Given the description of an element on the screen output the (x, y) to click on. 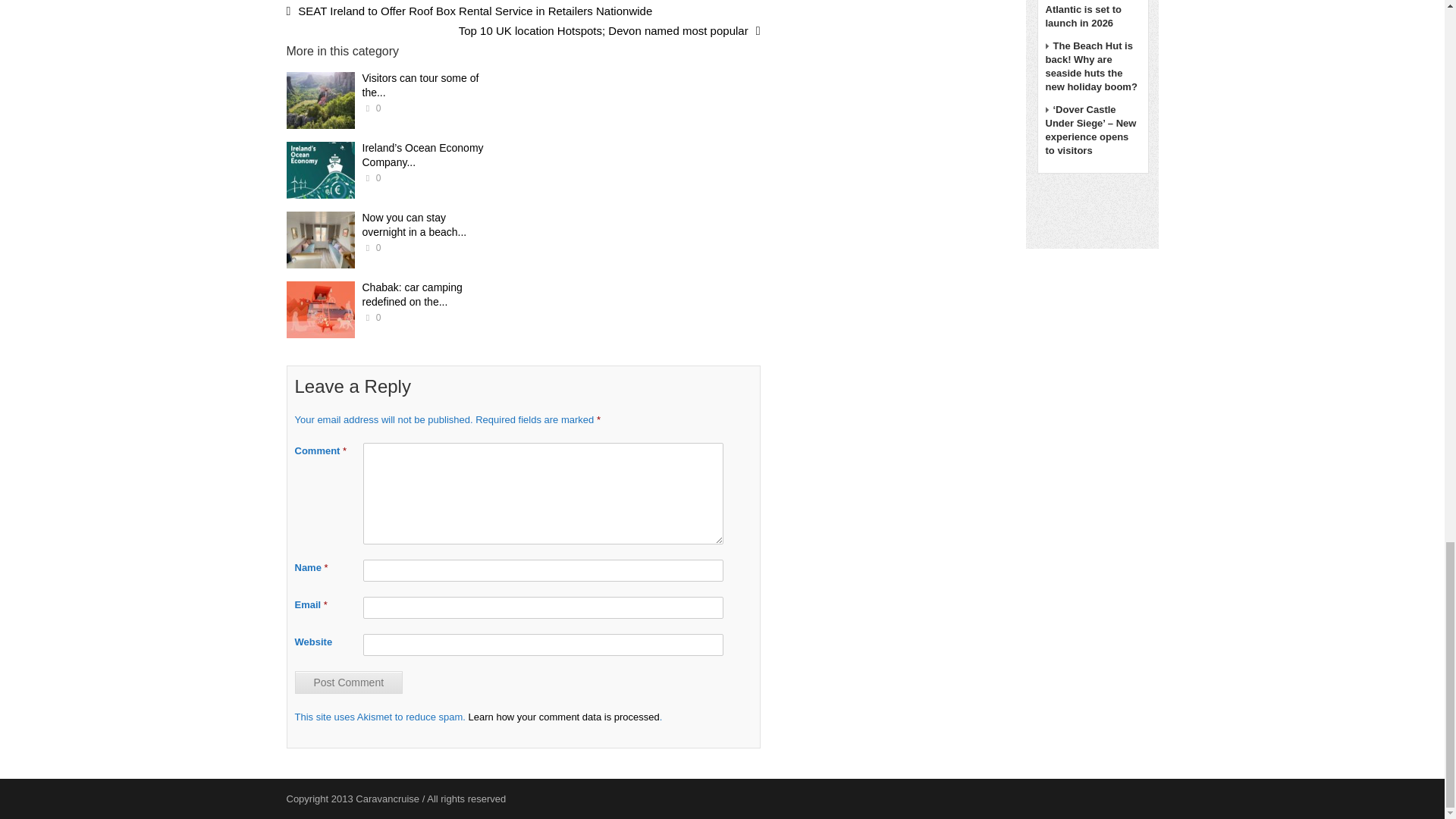
Post Comment (348, 681)
Chabak: car camping redefined on the new Hyundai Santa Fe (320, 309)
